Given the description of an element on the screen output the (x, y) to click on. 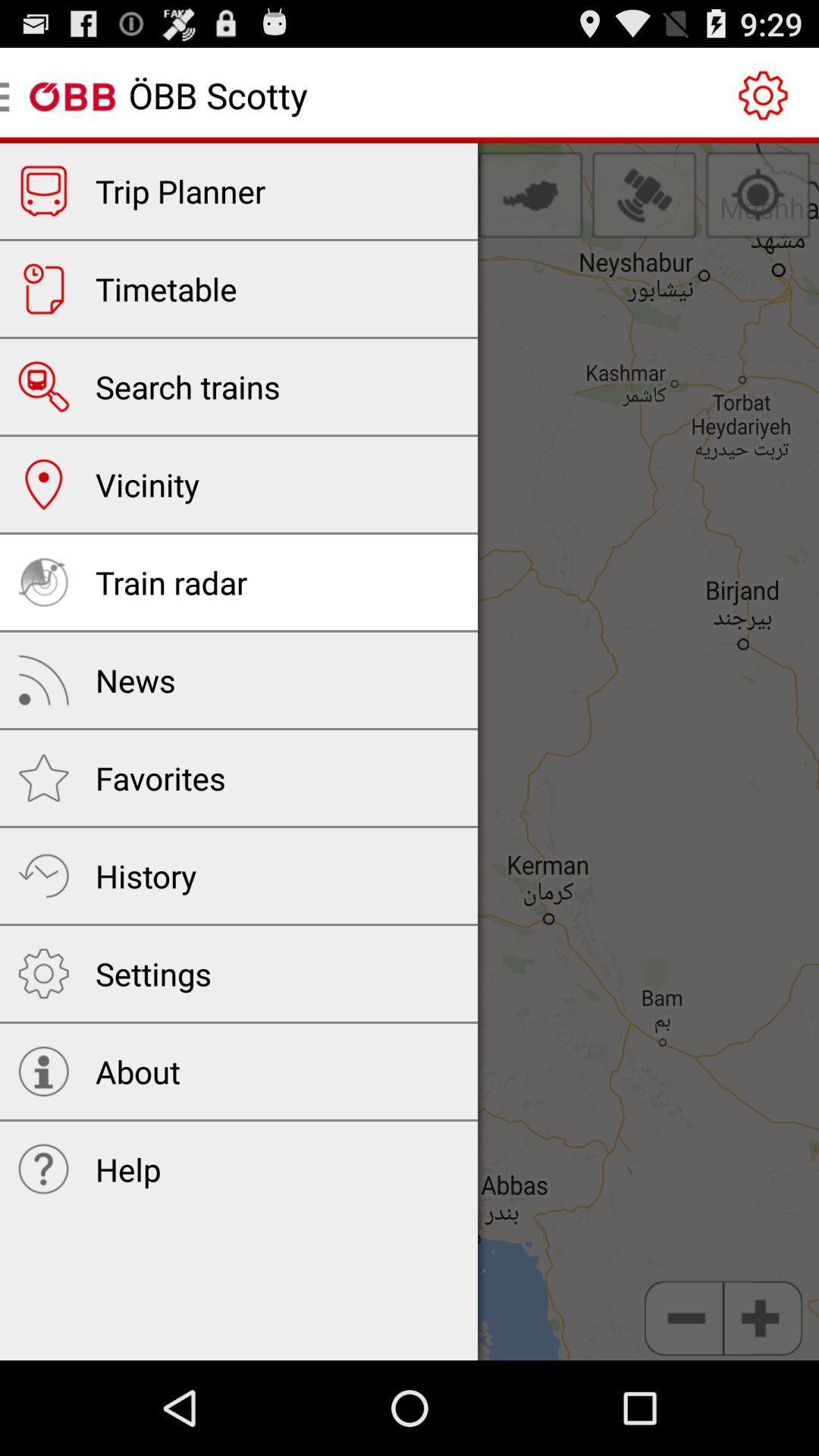
turn on item at the top (530, 194)
